Given the description of an element on the screen output the (x, y) to click on. 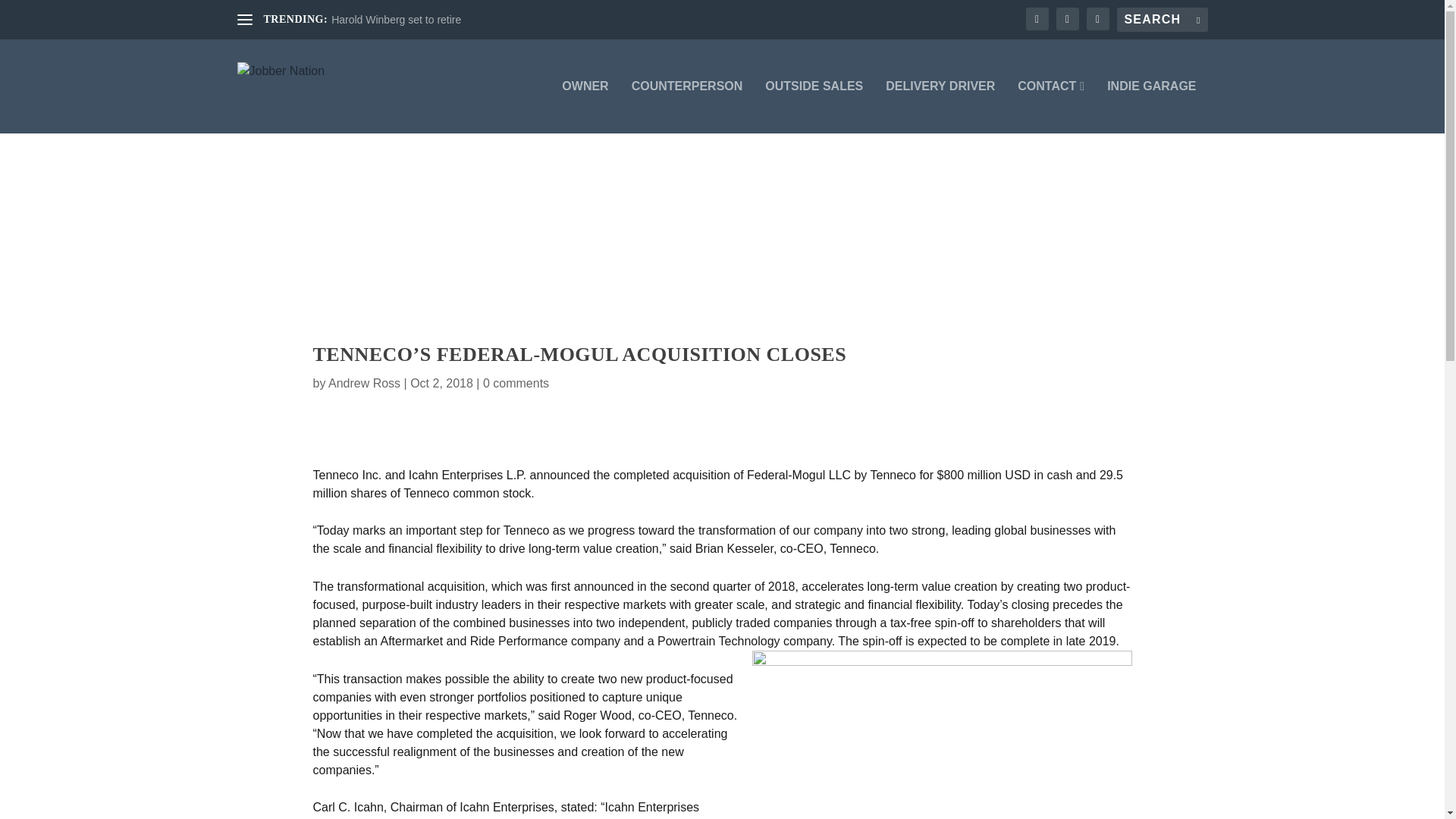
Harold Winberg set to retire (396, 19)
DELIVERY DRIVER (939, 106)
COUNTERPERSON (686, 106)
0 comments (515, 382)
Posts by Andrew Ross (364, 382)
Search for: (1161, 19)
CONTACT (1050, 106)
OUTSIDE SALES (814, 106)
Andrew Ross (364, 382)
INDIE GARAGE (1150, 106)
